Given the description of an element on the screen output the (x, y) to click on. 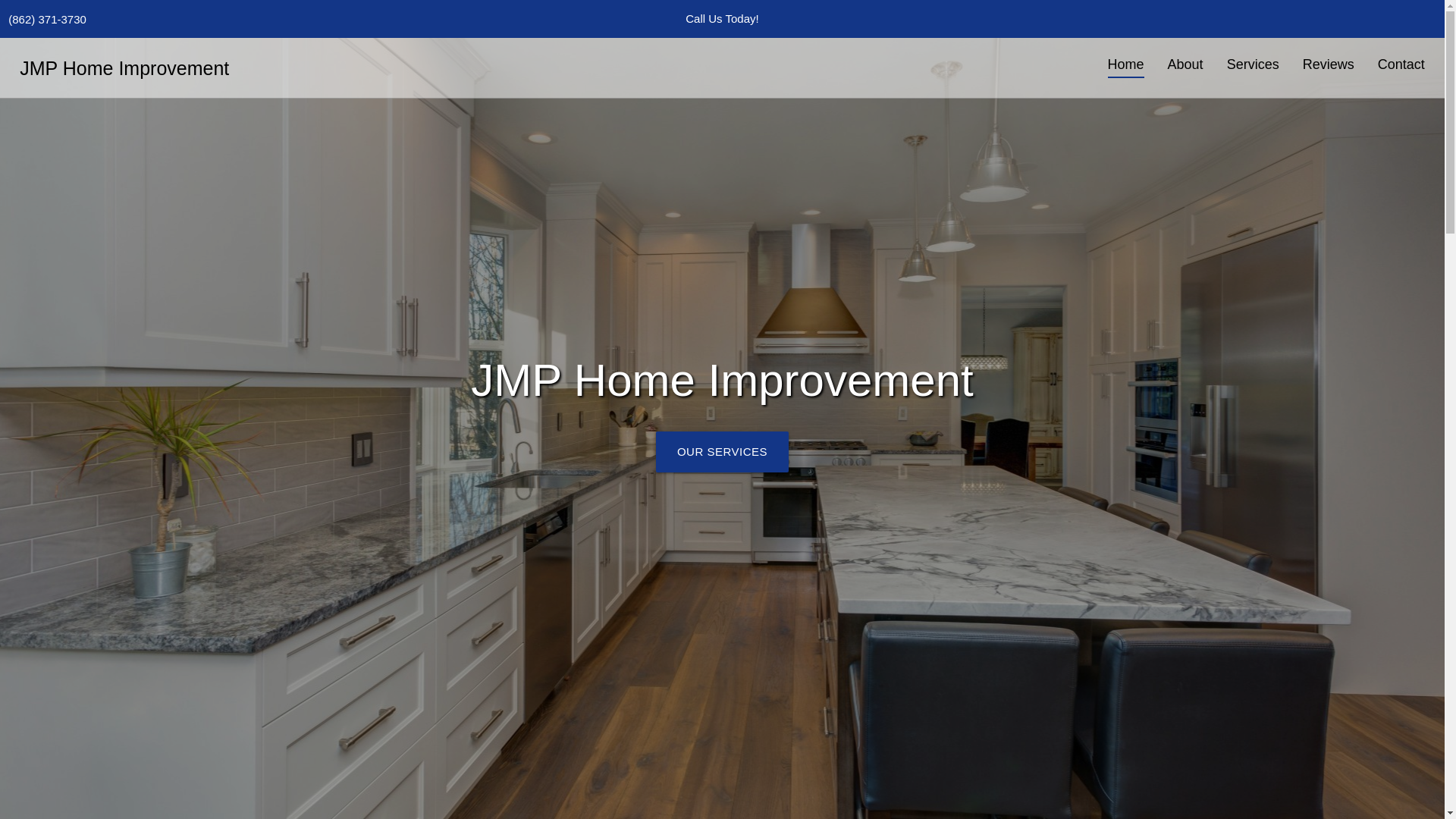
JMP Home Improvement (118, 67)
OUR SERVICES (722, 451)
Reviews (1327, 64)
Services (1252, 64)
About (1185, 64)
Contact (1400, 64)
Home (1126, 64)
